Given the description of an element on the screen output the (x, y) to click on. 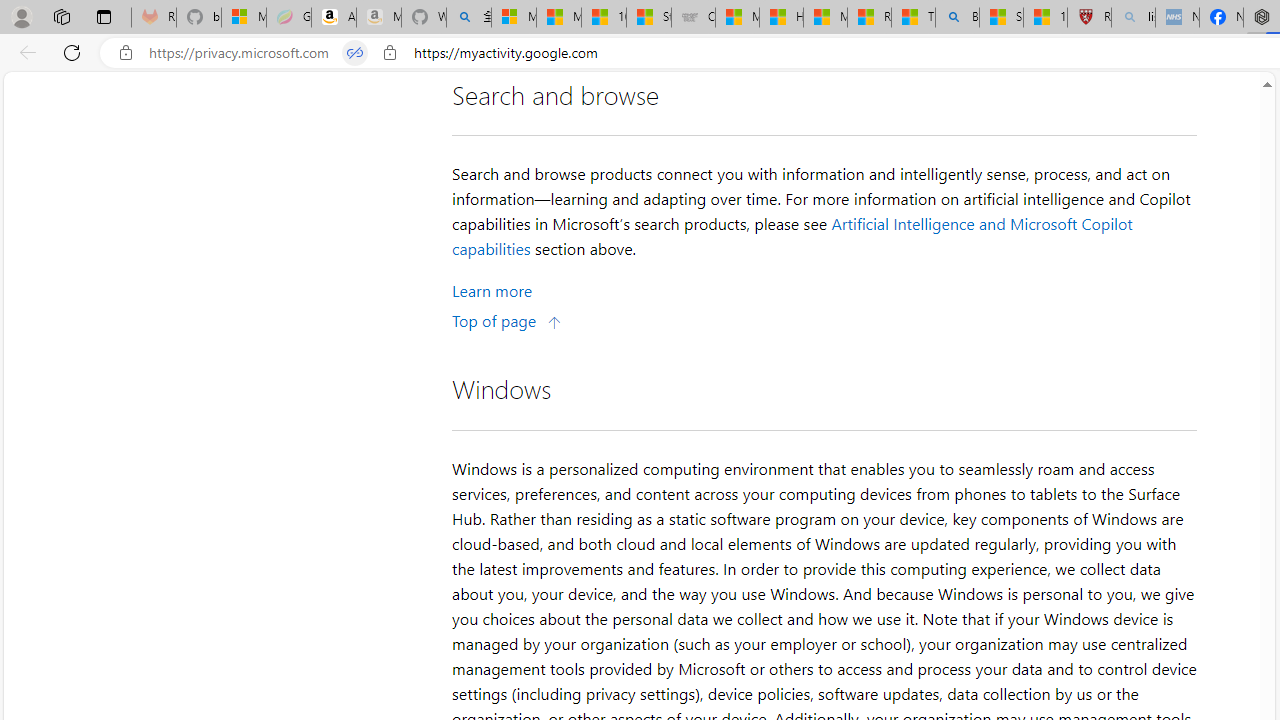
Tab actions menu (104, 16)
Science - MSN (1001, 17)
Microsoft Start (825, 17)
Stocks - MSN (648, 17)
list of asthma inhalers uk - Search - Sleeping (1133, 17)
View site information (389, 53)
Microsoft-Report a Concern to Bing (243, 17)
Back (24, 52)
Microsoft account | Privacy (513, 17)
Recipes - MSN (868, 17)
Top of page (507, 320)
